Given the description of an element on the screen output the (x, y) to click on. 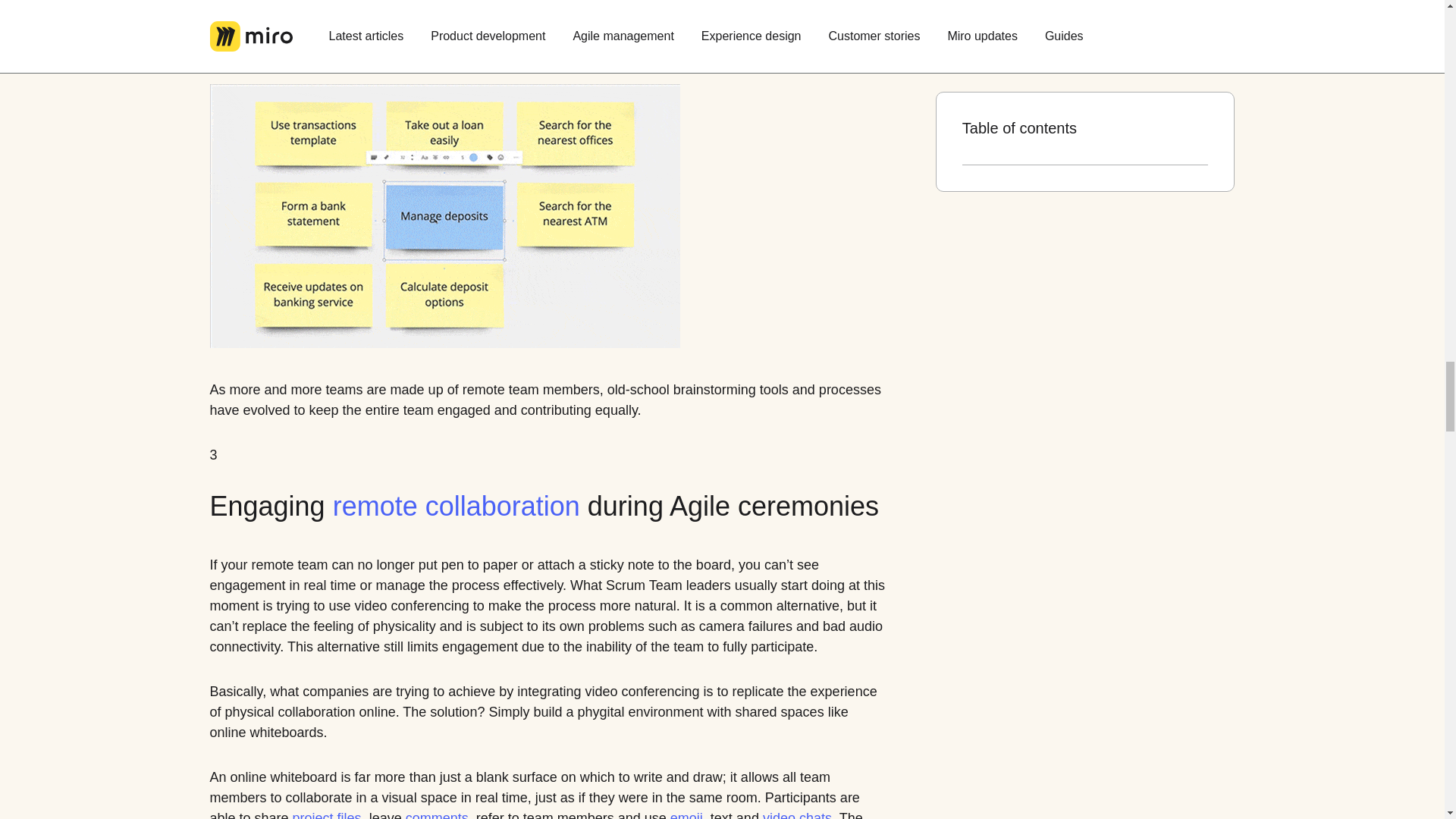
project files (326, 813)
video chats (796, 813)
action plan (290, 9)
emoji (686, 813)
Trello (268, 49)
comments (437, 813)
remote collaboration (456, 505)
transform stickers (573, 28)
Jira (220, 49)
